Given the description of an element on the screen output the (x, y) to click on. 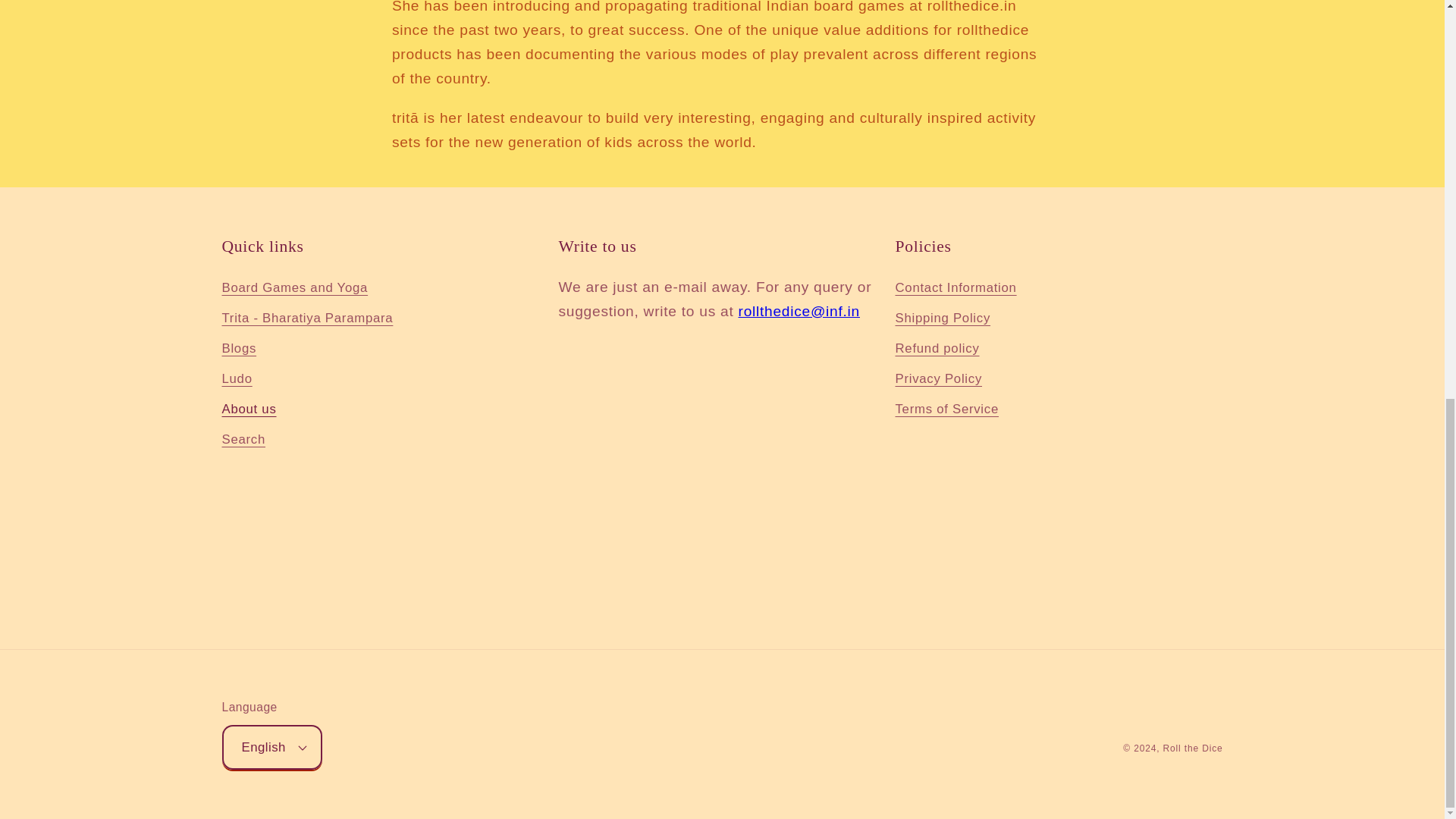
About us (248, 409)
Search (242, 440)
Ludo (236, 378)
Board Games and Yoga (294, 290)
Shipping Policy (942, 318)
Refund policy (936, 348)
Contact Information (955, 290)
Trita - Bharatiya Parampara (307, 318)
Blogs (238, 348)
